Given the description of an element on the screen output the (x, y) to click on. 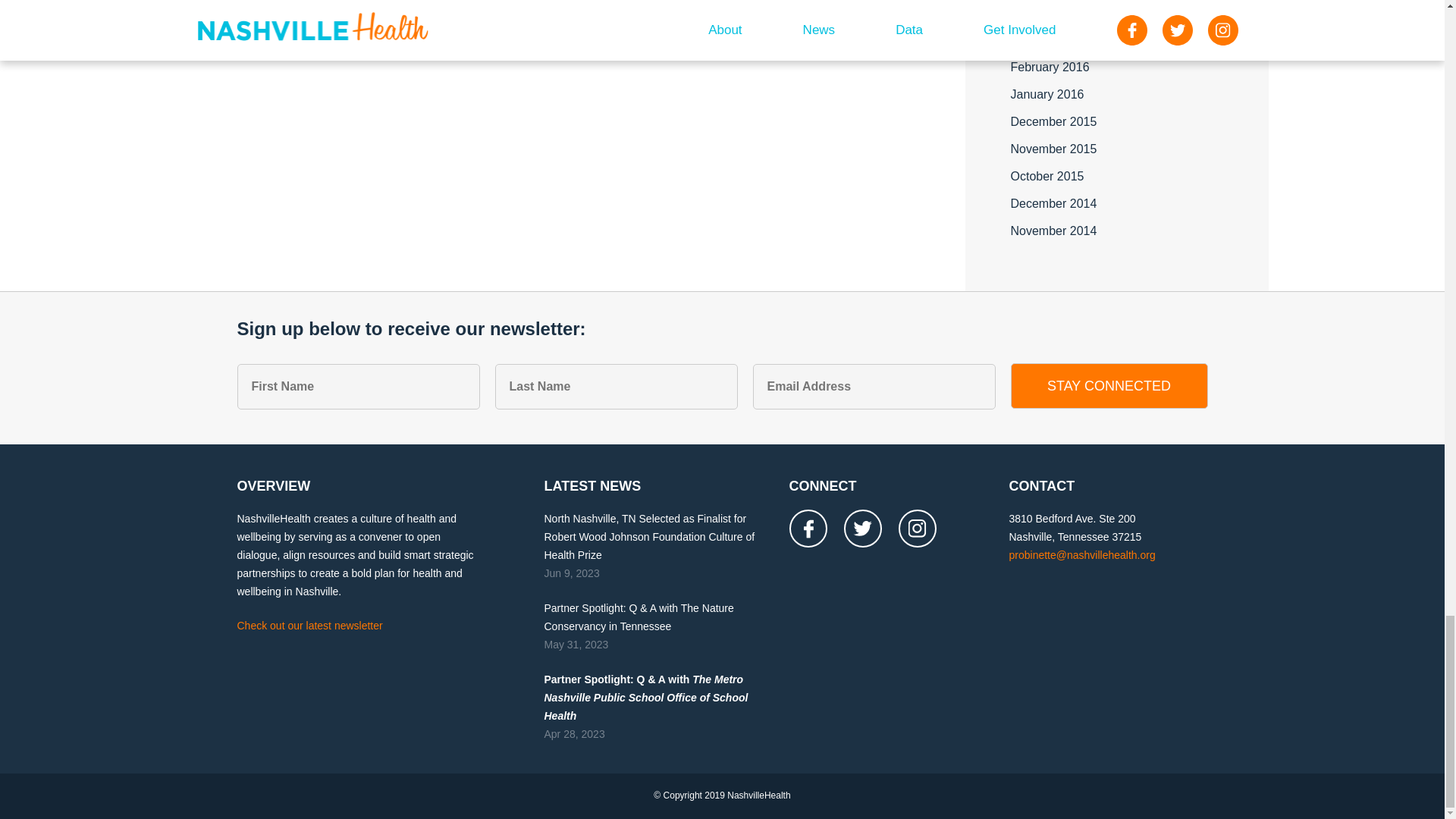
Stay connected (1108, 385)
